Given the description of an element on the screen output the (x, y) to click on. 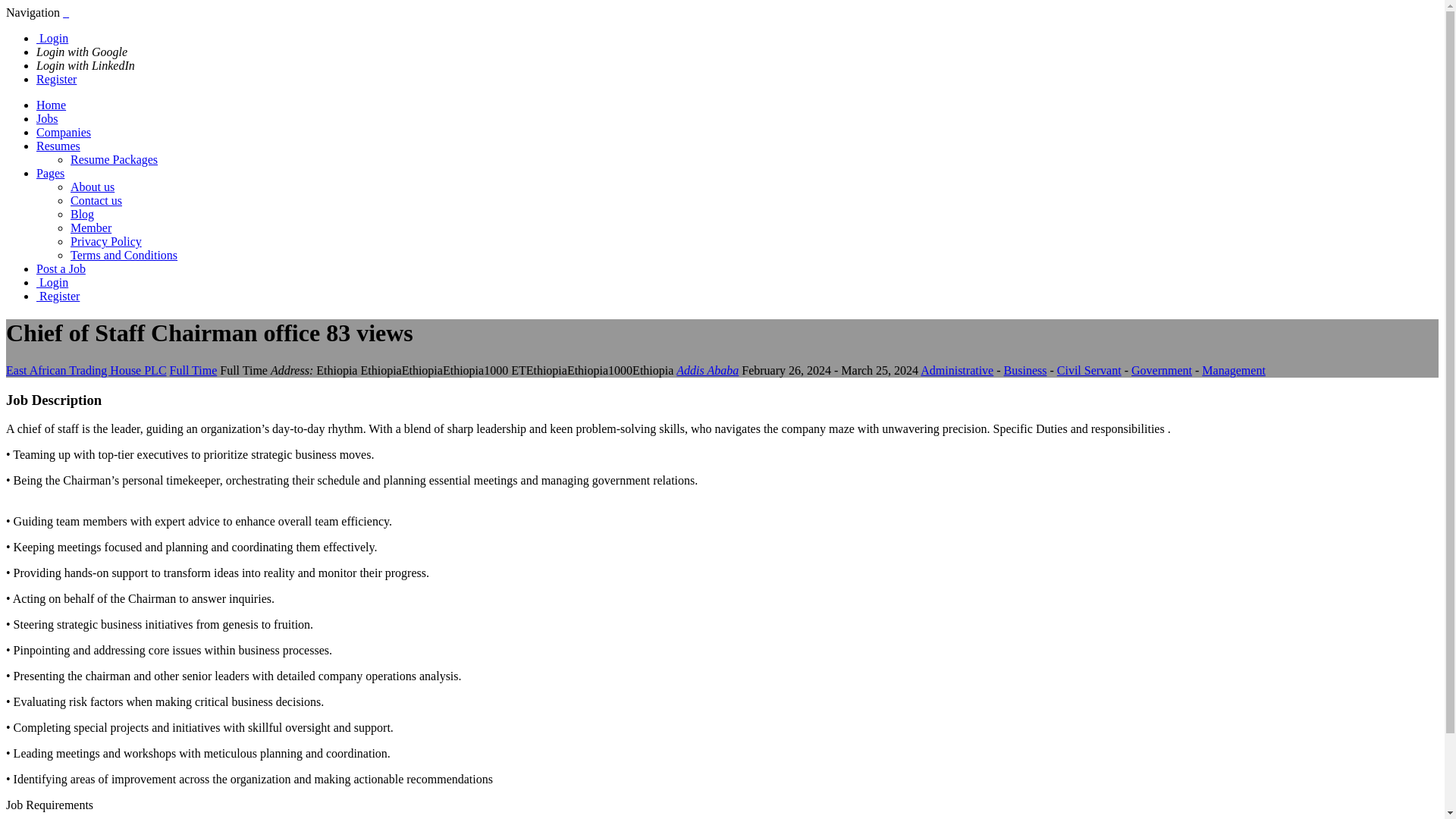
About us (92, 186)
Resumes (58, 145)
Post a Job (60, 268)
Member (90, 227)
Pages (50, 173)
Contact us (95, 200)
Government (1161, 369)
Business (1025, 369)
Privacy Policy (105, 241)
Terms and Conditions (123, 254)
Navigation (33, 11)
Home (50, 104)
 Login (52, 282)
Register (56, 78)
Jobs (47, 118)
